Given the description of an element on the screen output the (x, y) to click on. 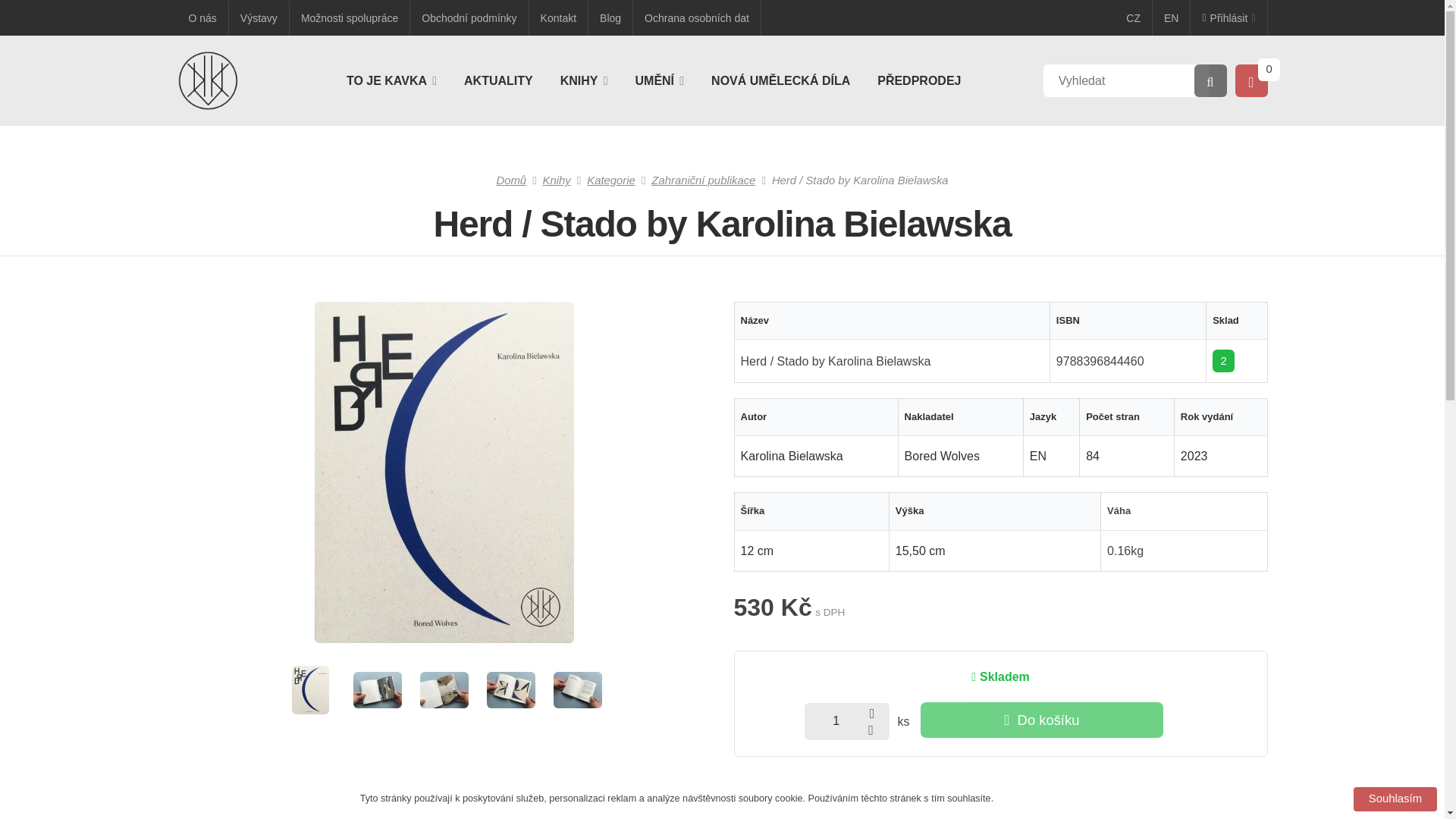
Kontakt (558, 17)
English (1172, 18)
CZ (1134, 18)
TO JE KAVKA (391, 80)
KNIHY (584, 80)
EN (1172, 18)
0 ks (1268, 69)
Blog (610, 17)
1 (847, 720)
AKTUALITY (498, 80)
Czech (1134, 18)
